Given the description of an element on the screen output the (x, y) to click on. 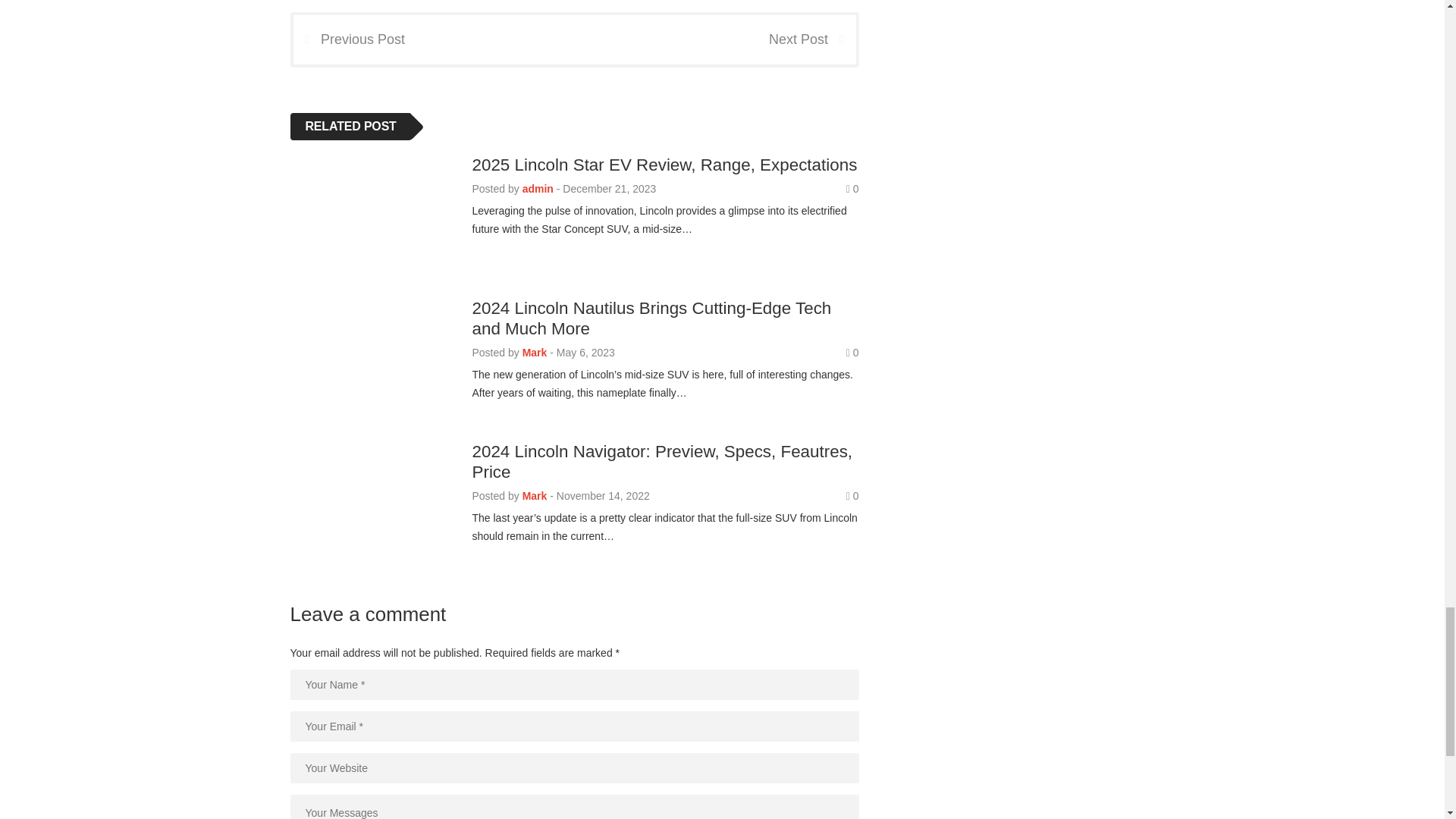
Previous Post (348, 38)
Posts by Mark (534, 352)
Posts by admin (537, 188)
Next Post (812, 38)
Posts by Mark (534, 495)
